Given the description of an element on the screen output the (x, y) to click on. 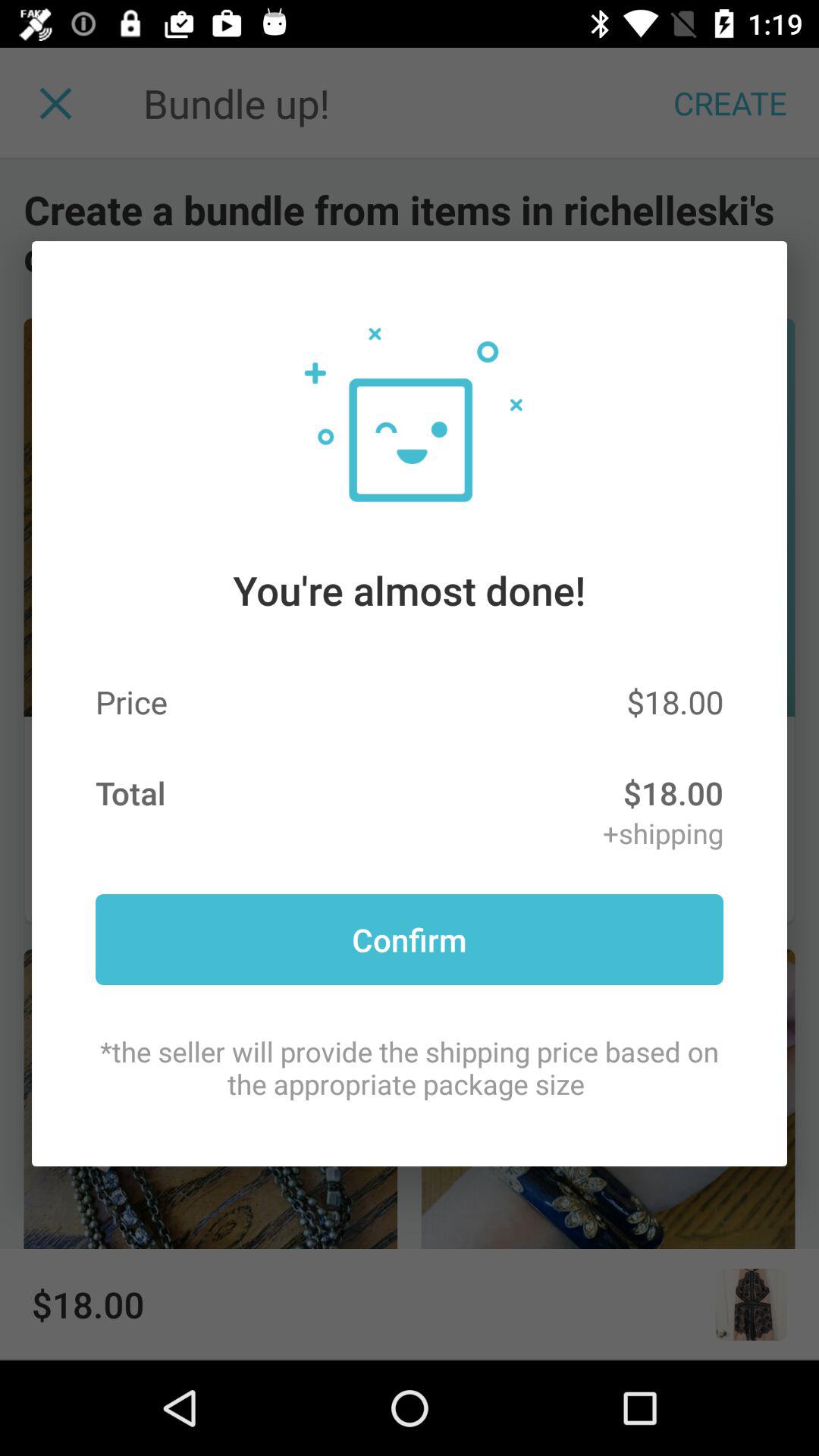
open the item below +shipping (409, 939)
